Given the description of an element on the screen output the (x, y) to click on. 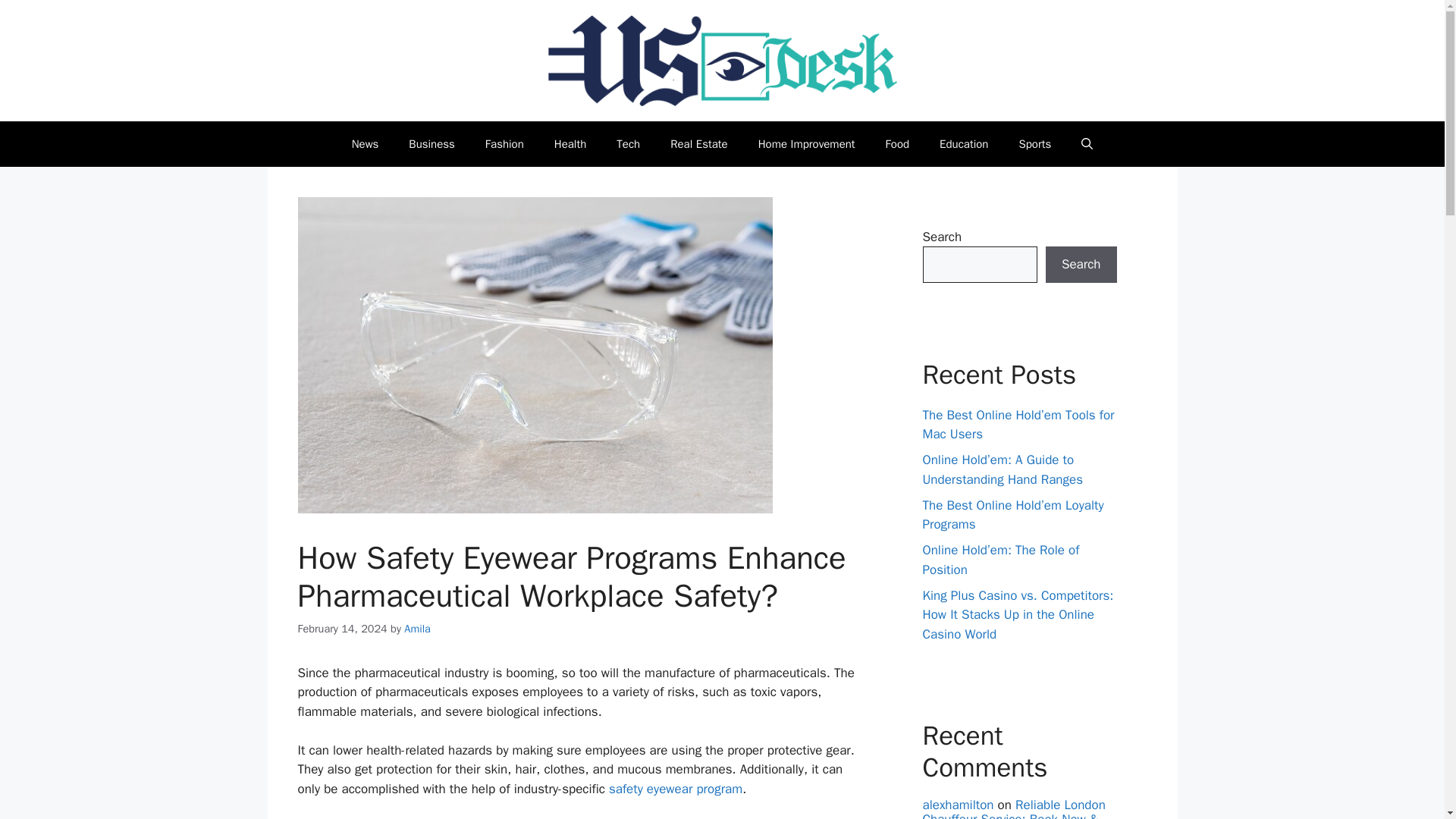
Food (897, 144)
News (365, 144)
Real Estate (698, 144)
Education (963, 144)
alexhamilton (956, 804)
Health (570, 144)
safety eyewear program (675, 788)
View all posts by Amila (417, 628)
Home Improvement (806, 144)
Fashion (504, 144)
